Given the description of an element on the screen output the (x, y) to click on. 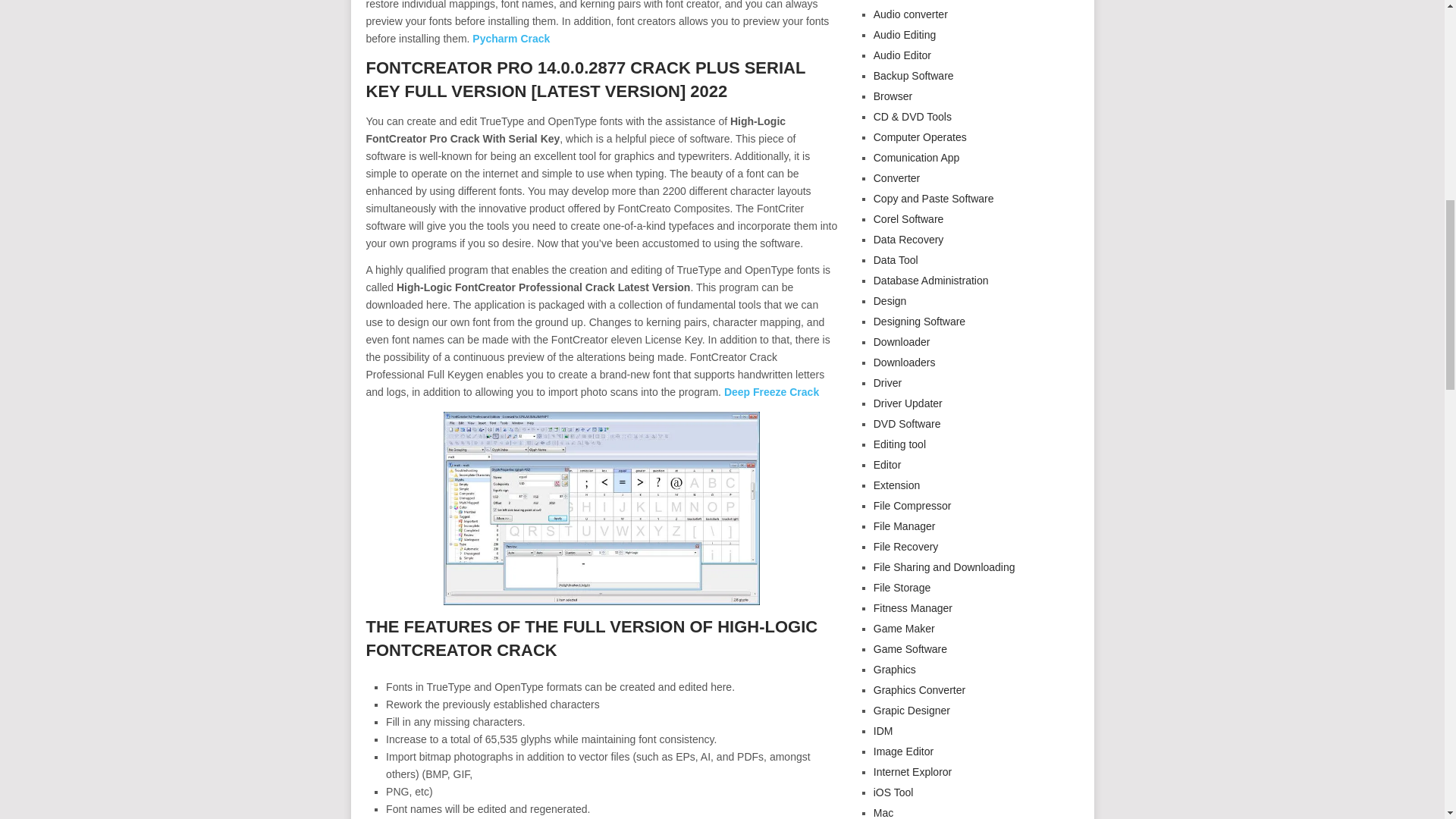
Pycharm Crack (509, 38)
Deep Freeze Crack (770, 391)
